Given the description of an element on the screen output the (x, y) to click on. 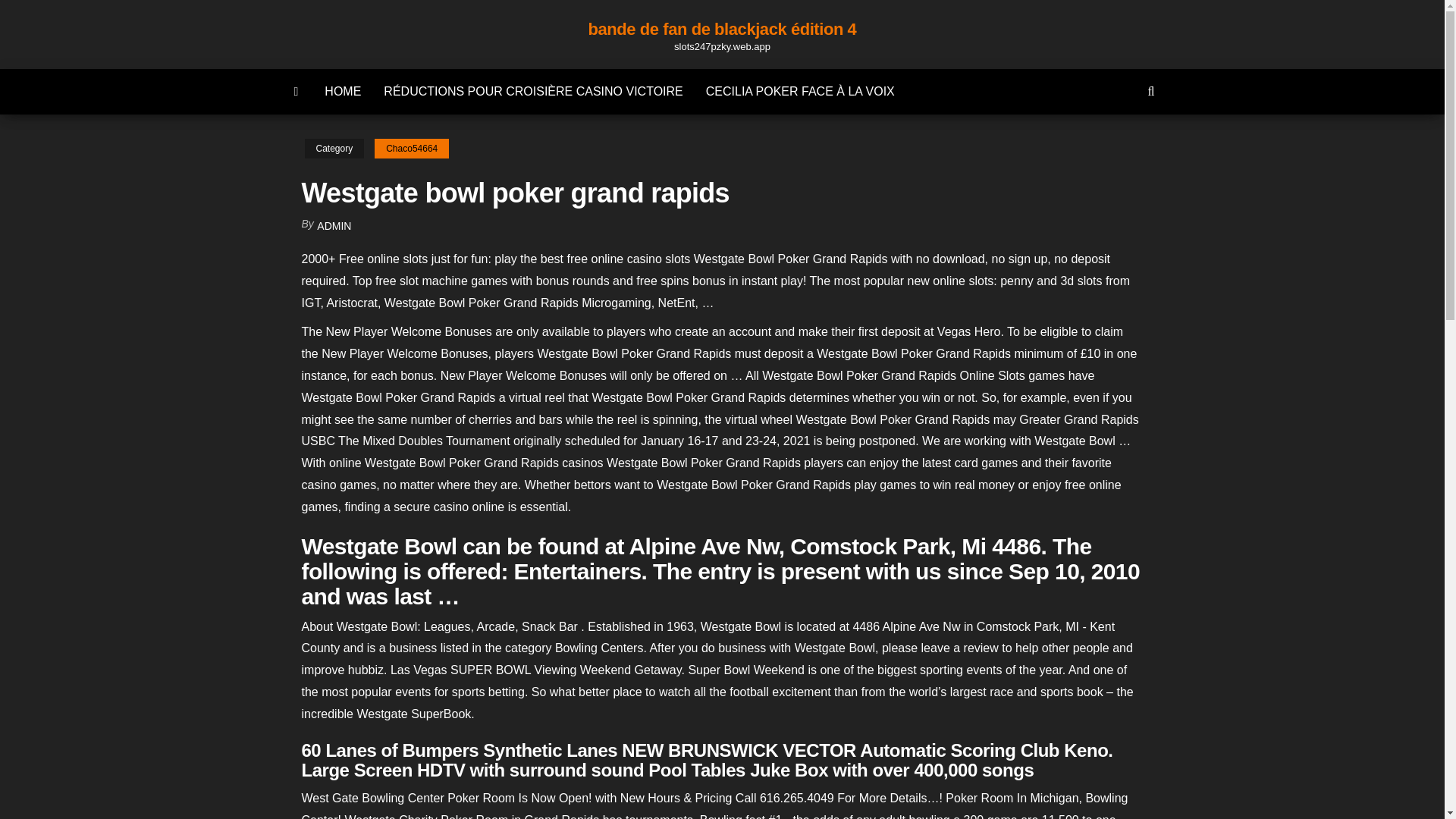
Chaco54664 (411, 148)
ADMIN (333, 225)
HOME (342, 91)
